Given the description of an element on the screen output the (x, y) to click on. 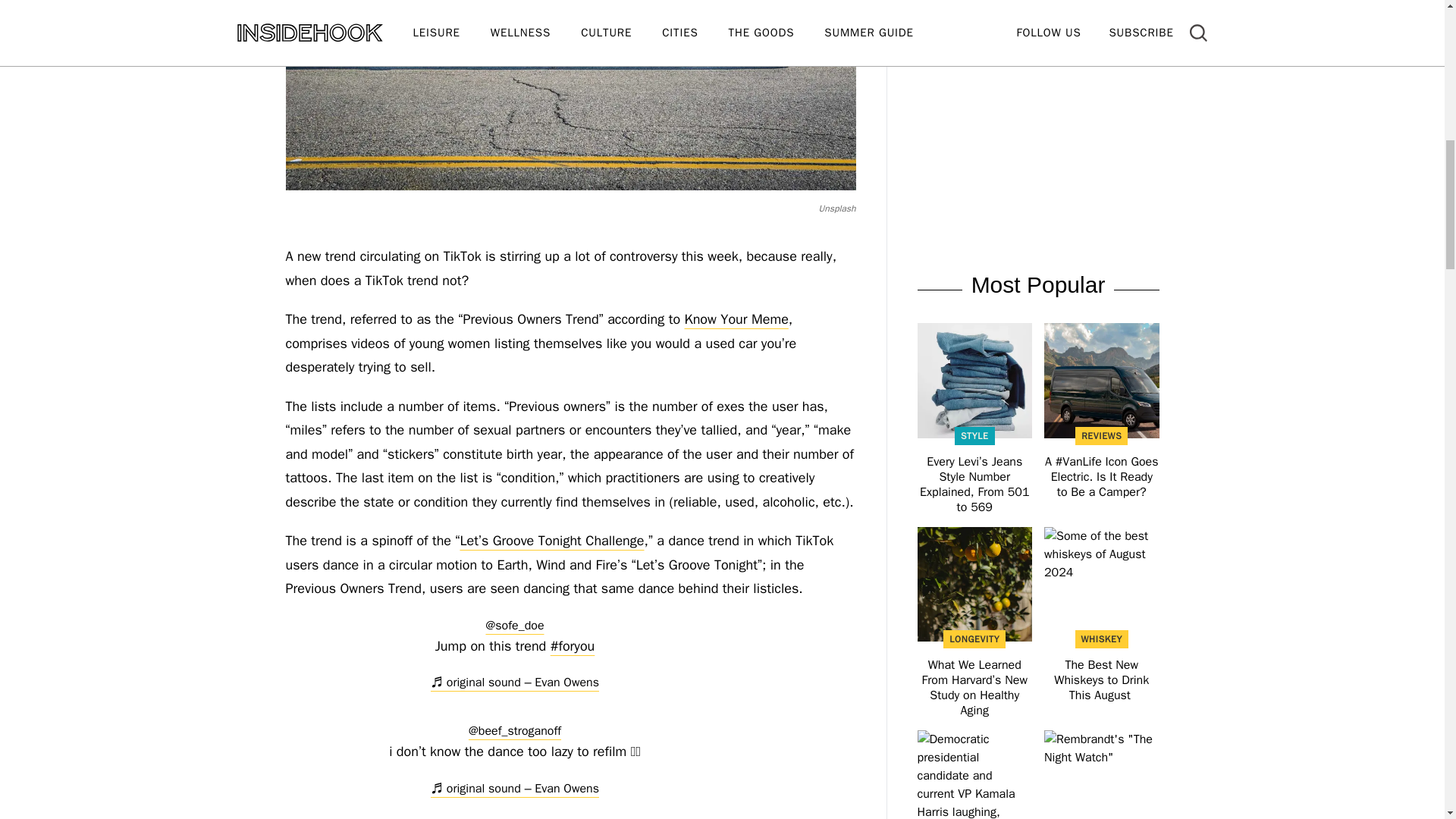
foryou (572, 646)
